Given the description of an element on the screen output the (x, y) to click on. 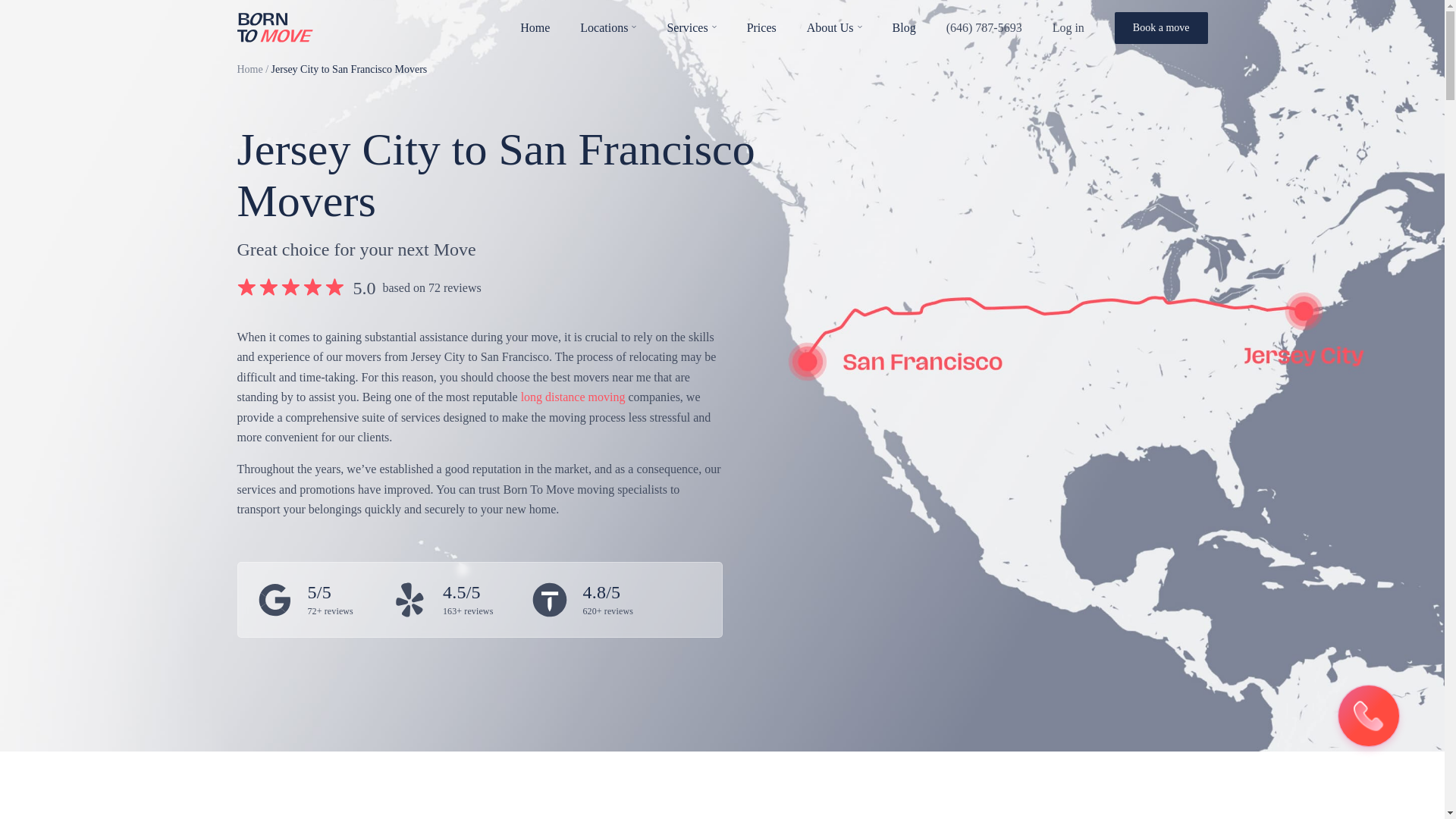
Blog (903, 27)
Log in (1068, 27)
Home (248, 69)
Prices (761, 27)
long distance moving (573, 396)
About Us (829, 27)
Home (534, 27)
Book a move (1160, 27)
Locations (603, 27)
Services (686, 27)
